Given the description of an element on the screen output the (x, y) to click on. 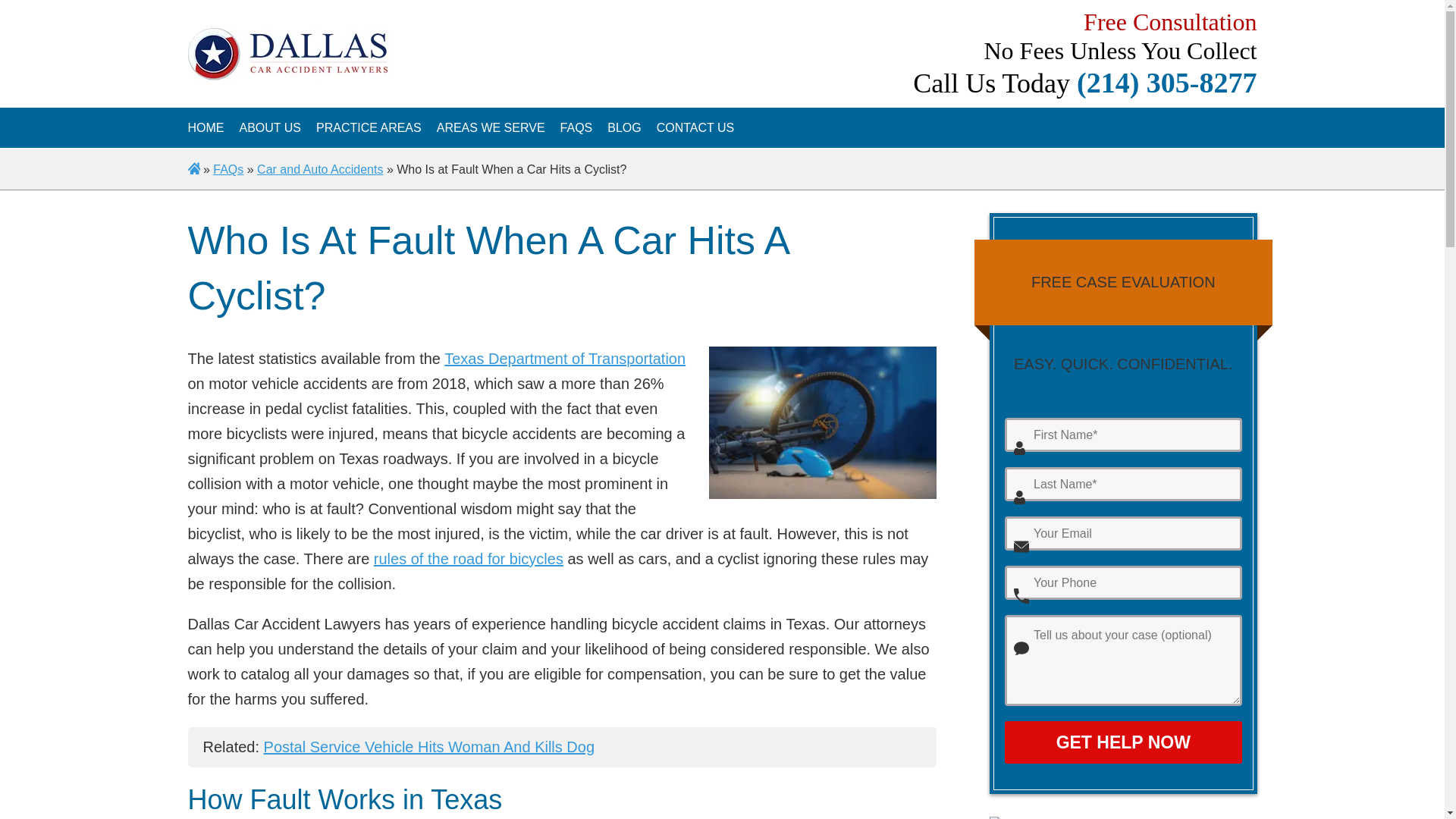
PRACTICE AREAS (368, 127)
Dallas Car Accident Lawyers (205, 127)
Dallas Car Accident Legal Representation  (270, 127)
AREAS WE SERVE (490, 127)
Get Help Now (1122, 742)
ABOUT US (270, 127)
HOME (205, 127)
